Given the description of an element on the screen output the (x, y) to click on. 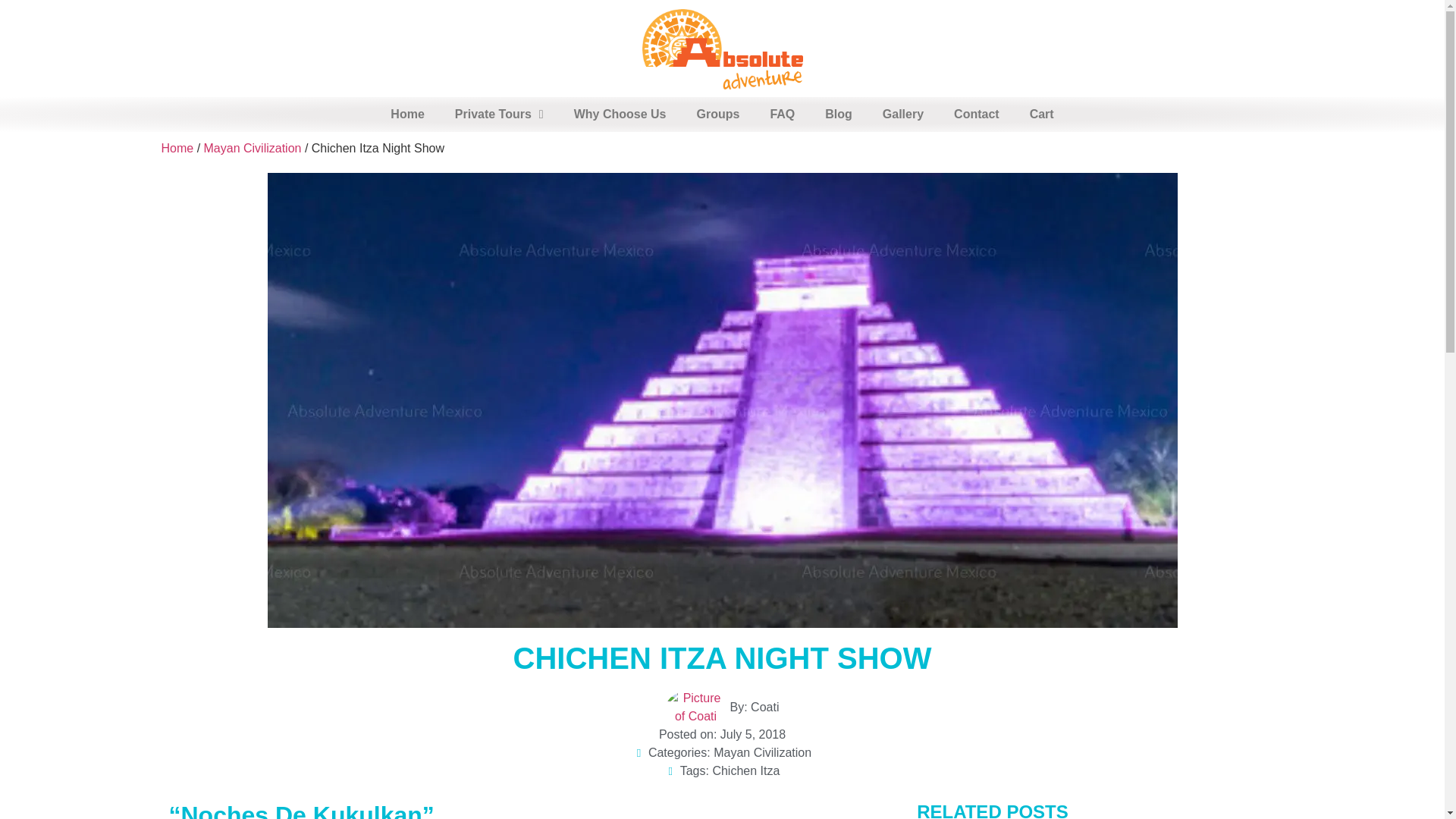
Contact (976, 114)
Cart (1041, 114)
Private Tours (499, 114)
Blog (838, 114)
Home (407, 114)
Why Choose Us (620, 114)
Groups (717, 114)
FAQ (781, 114)
Gallery (903, 114)
